Given the description of an element on the screen output the (x, y) to click on. 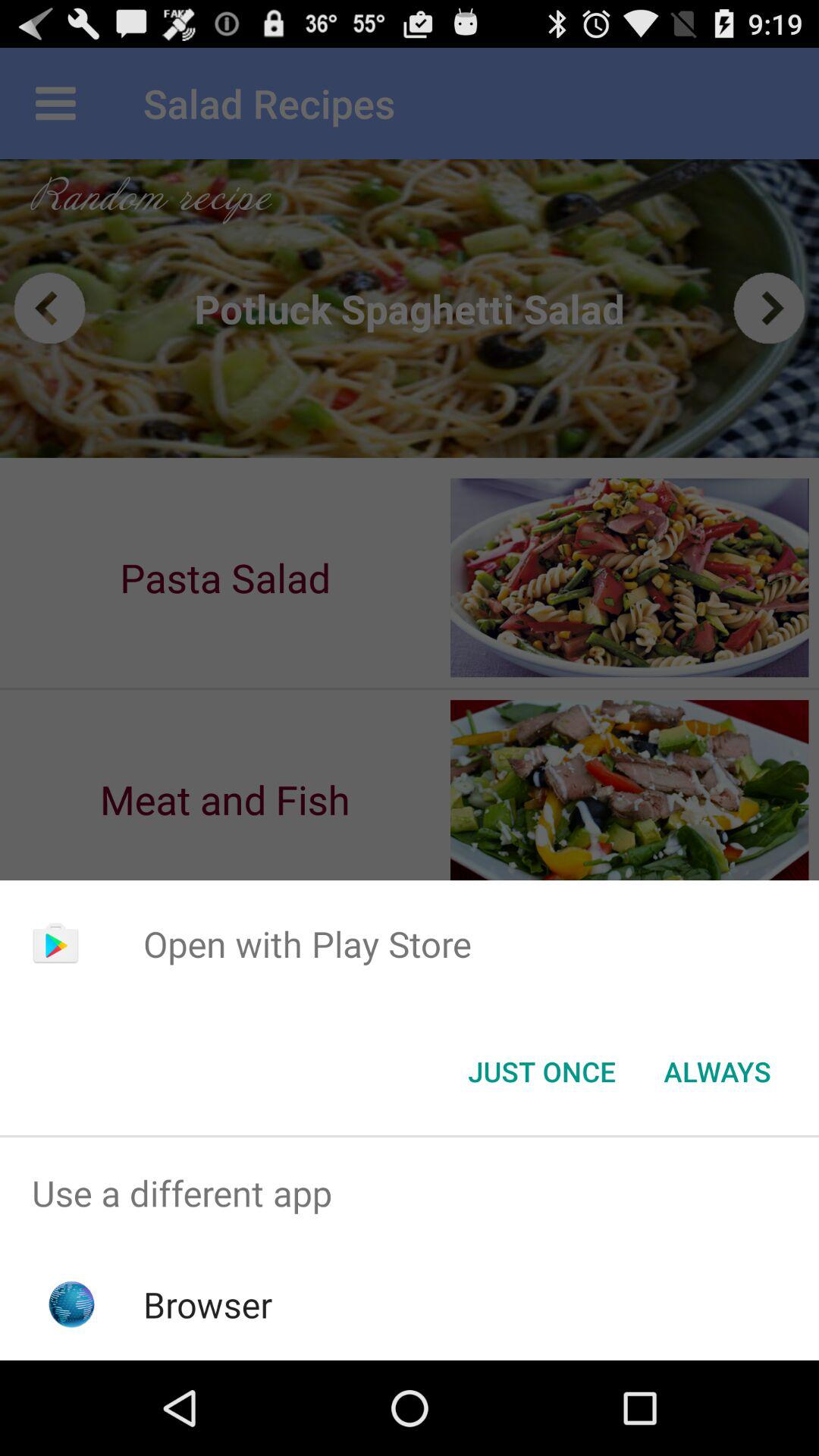
turn off item next to always item (541, 1071)
